Given the description of an element on the screen output the (x, y) to click on. 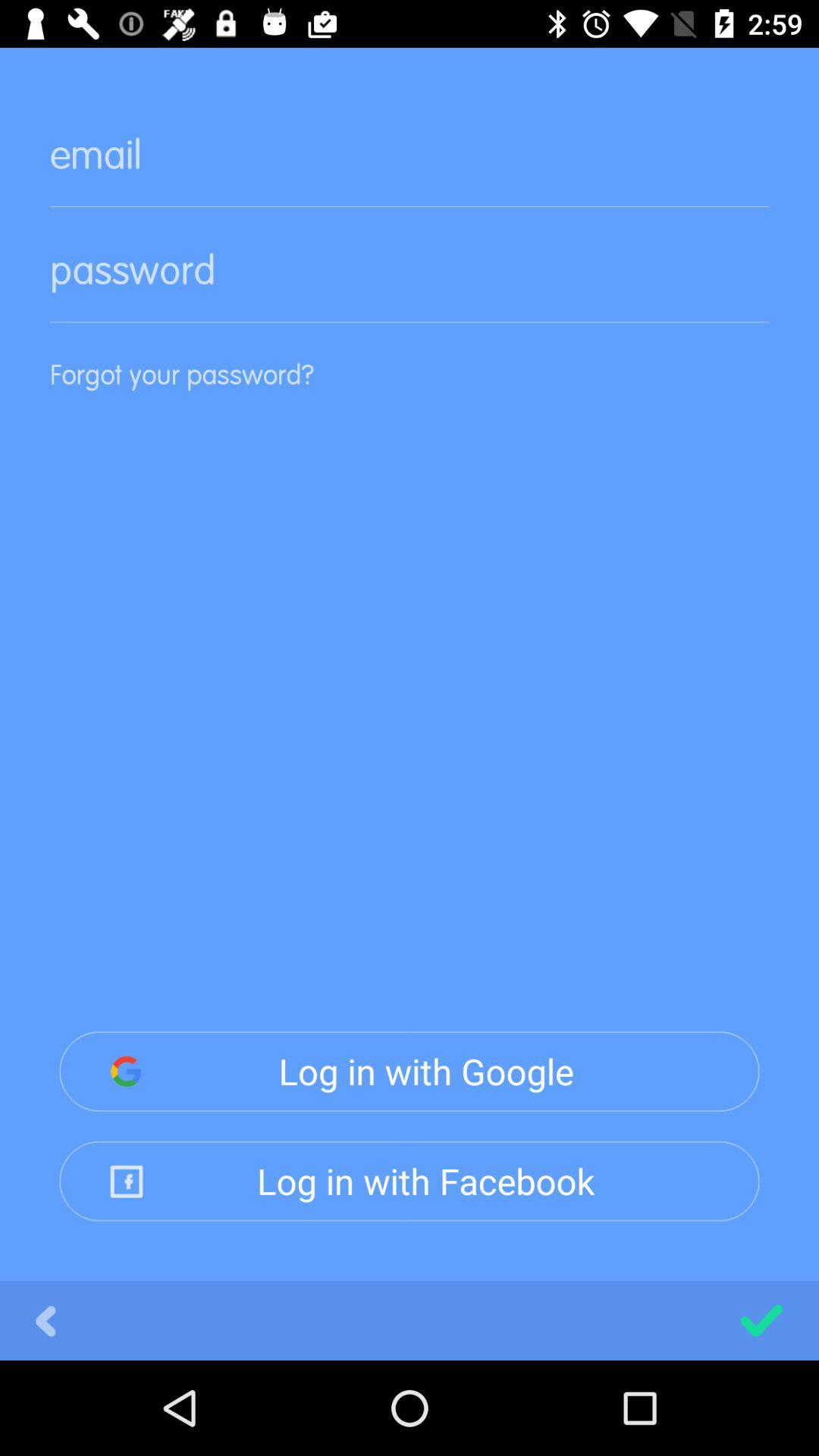
type password (409, 282)
